Given the description of an element on the screen output the (x, y) to click on. 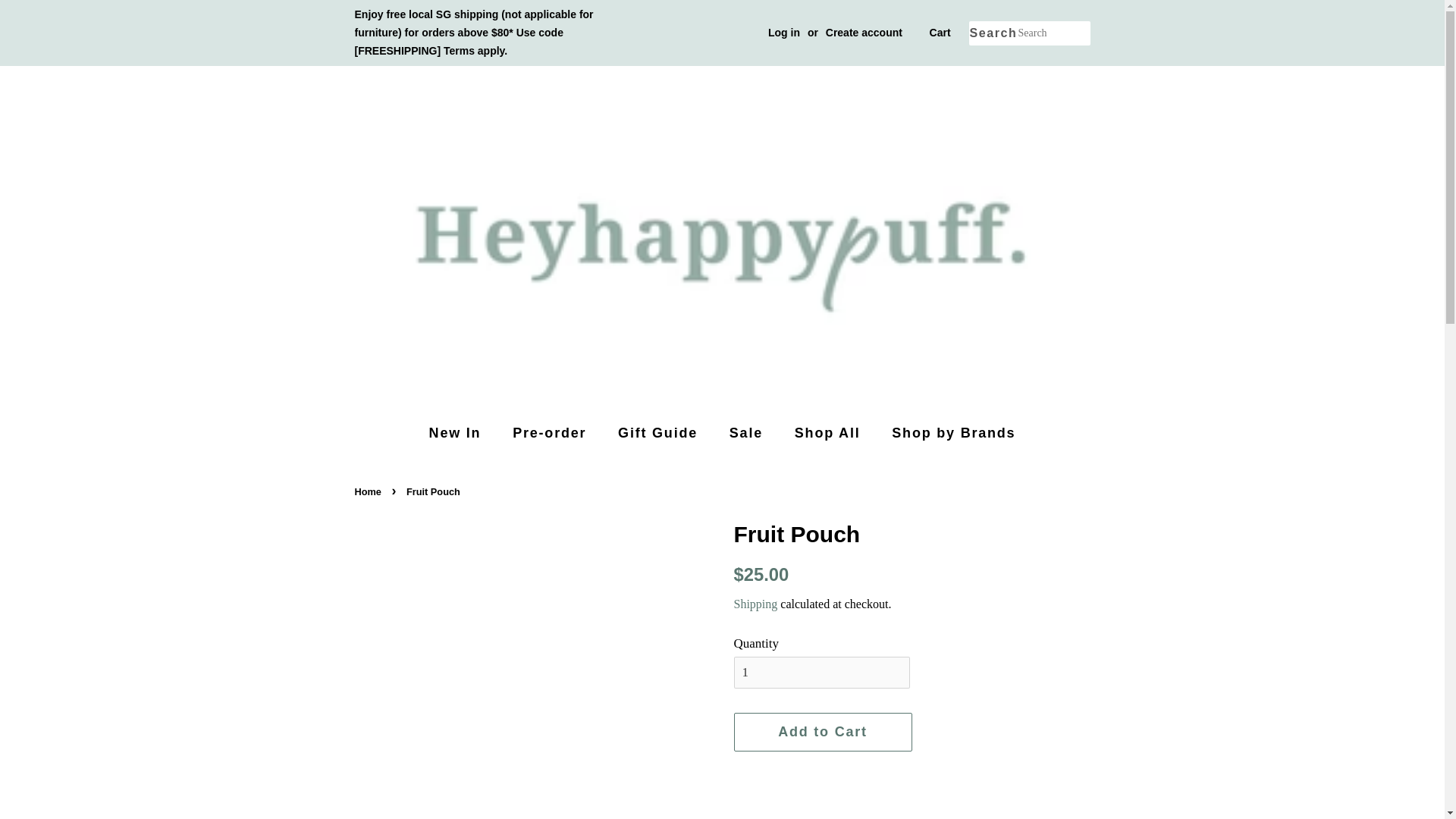
Cart (940, 33)
Create account (863, 32)
Back to the frontpage (370, 491)
Search (993, 33)
Log in (783, 32)
1 (821, 672)
